Given the description of an element on the screen output the (x, y) to click on. 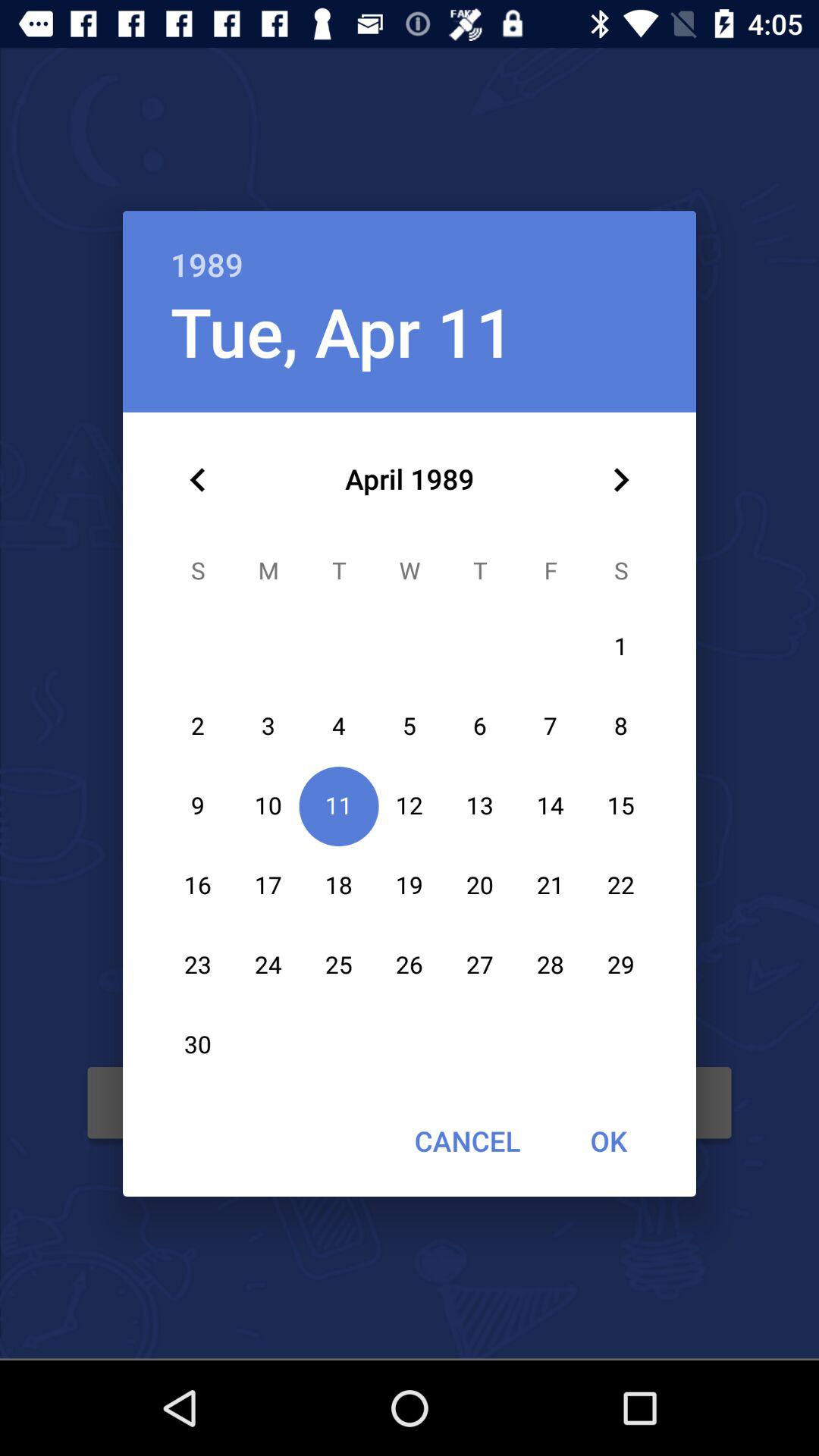
select icon below the tue, apr 11 icon (197, 479)
